Given the description of an element on the screen output the (x, y) to click on. 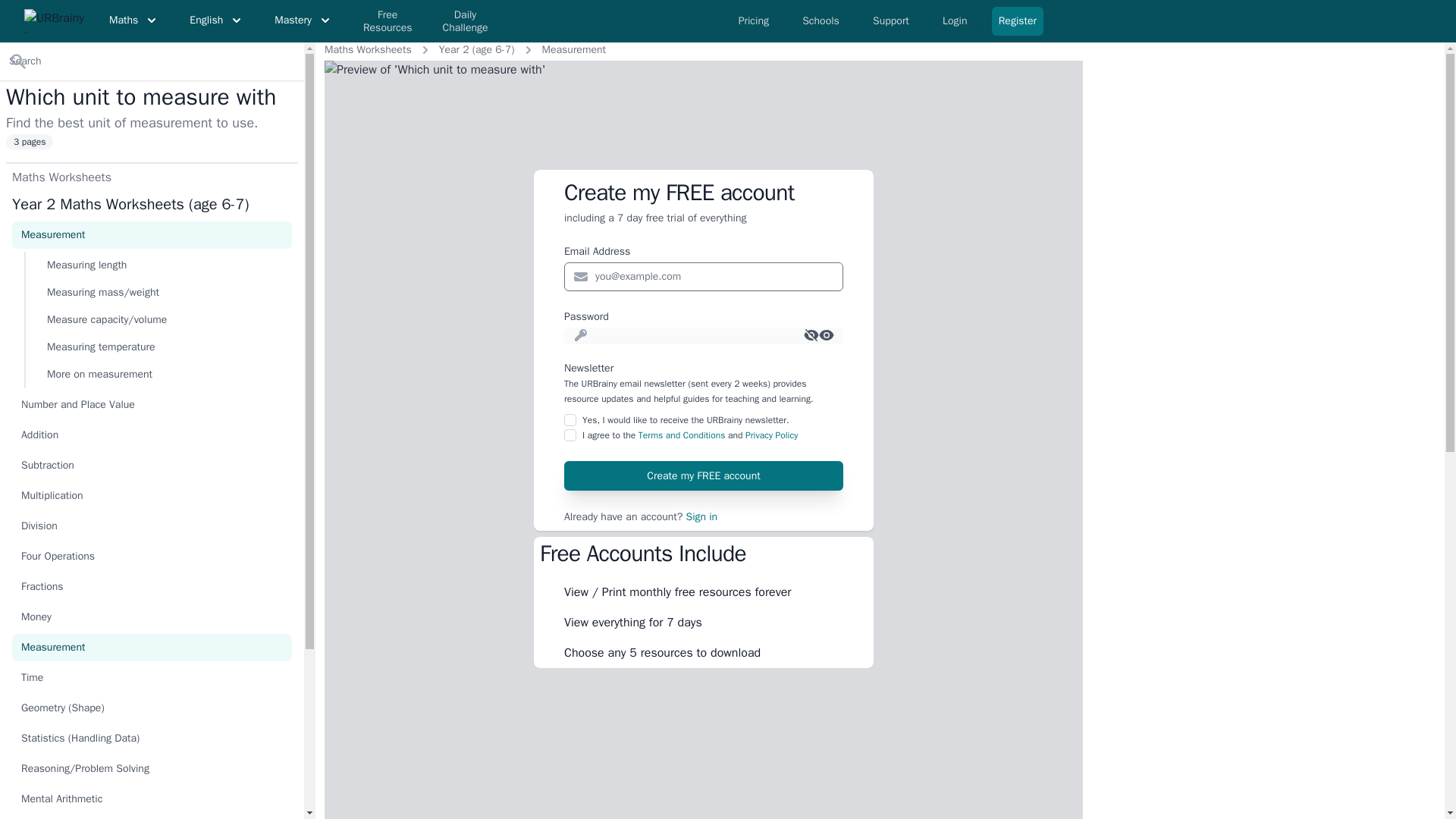
Maths Worksheets (368, 49)
Mastery (303, 19)
English (216, 19)
Maths (134, 19)
Measurement (573, 49)
on (570, 419)
on (570, 435)
